Given the description of an element on the screen output the (x, y) to click on. 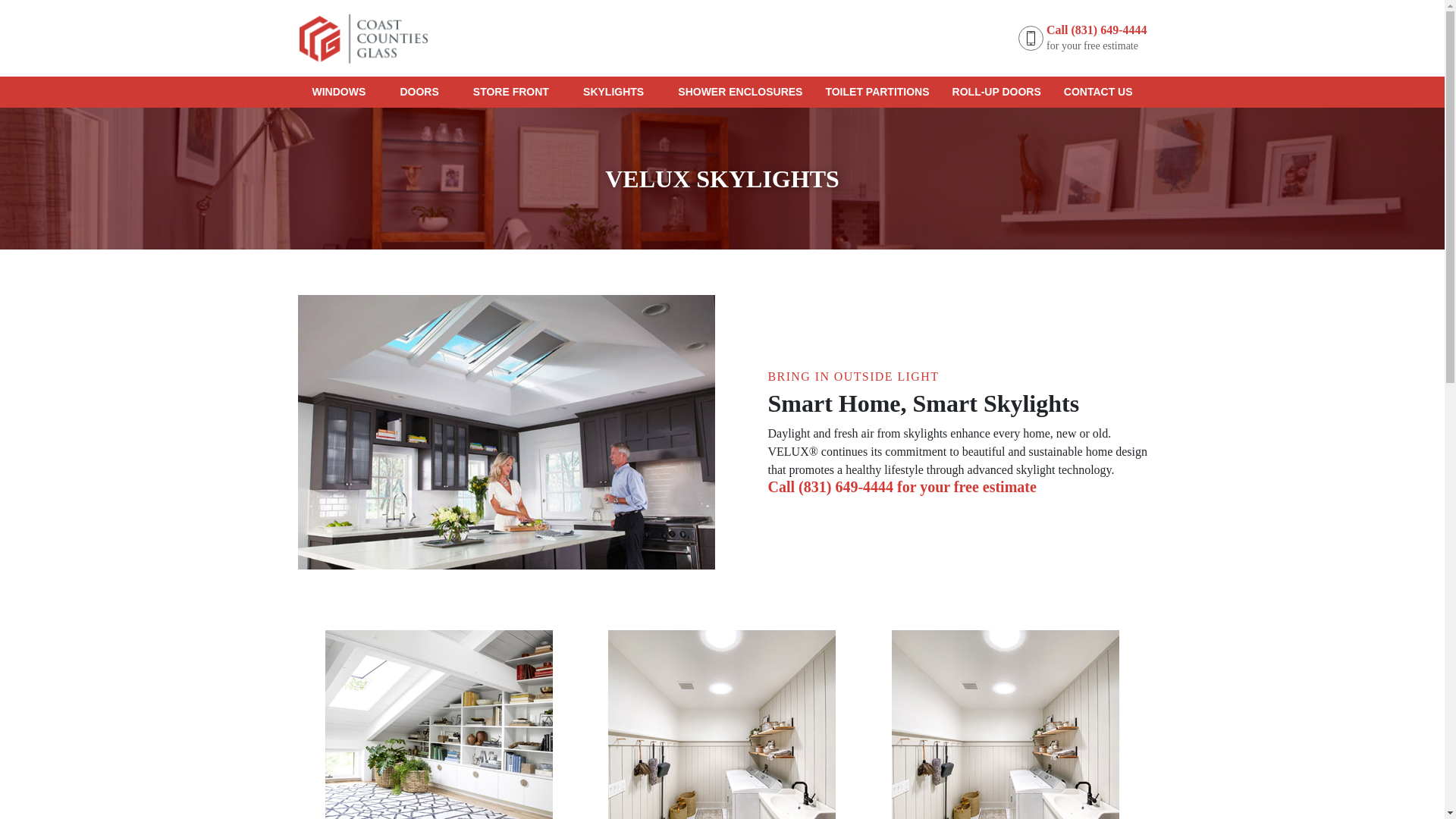
SHOWER ENCLOSURES (739, 91)
STORE FRONT (516, 91)
WINDOWS (343, 91)
TOILET PARTITIONS (876, 91)
SKYLIGHTS (619, 91)
DOORS (424, 91)
